Given the description of an element on the screen output the (x, y) to click on. 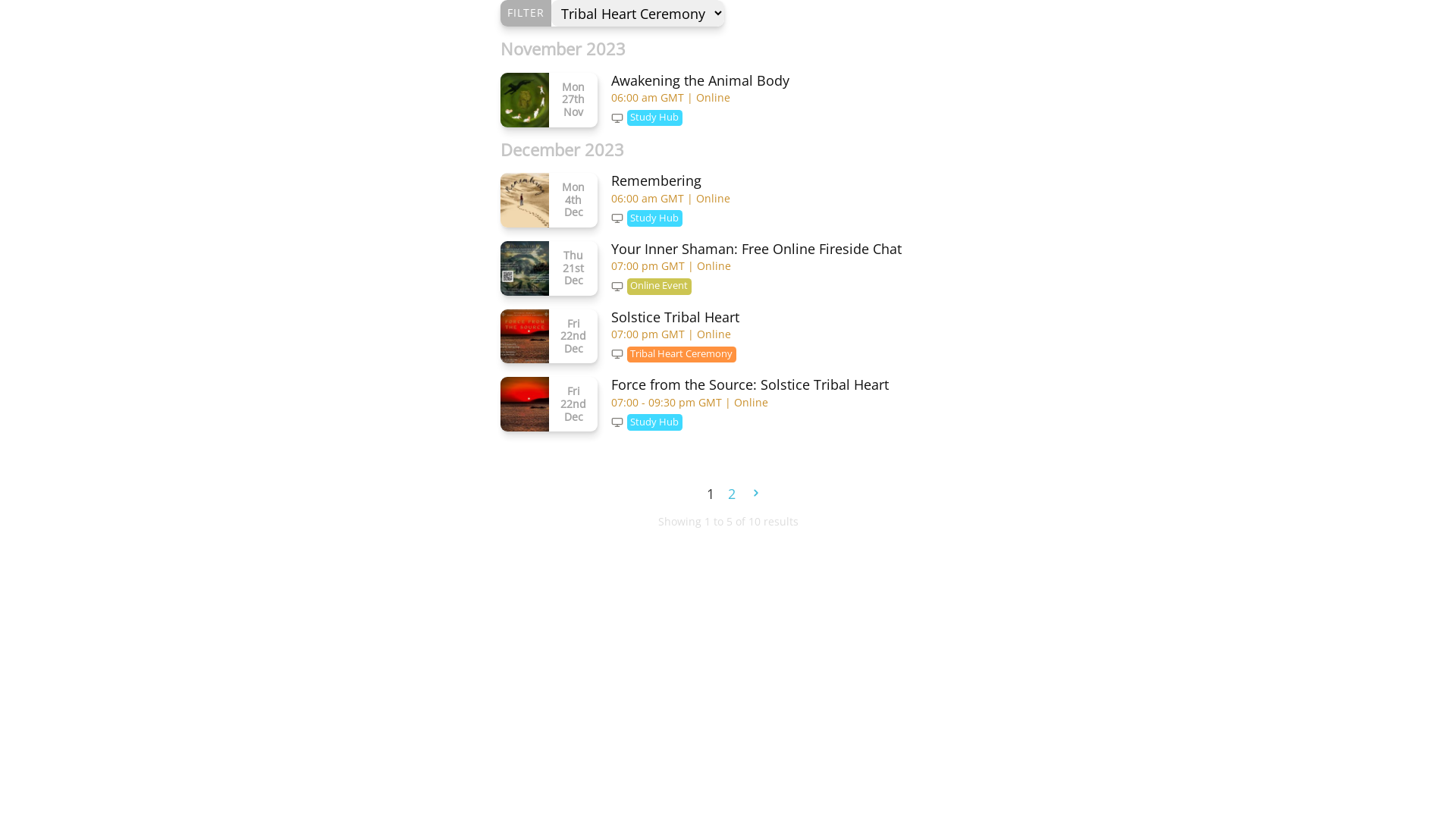
FILTER Element type: text (525, 13)
2 Element type: text (731, 494)
Mon
4th
Dec
Remembering
06:00 am GMT | Online
Study Hub Element type: text (727, 199)
